Given the description of an element on the screen output the (x, y) to click on. 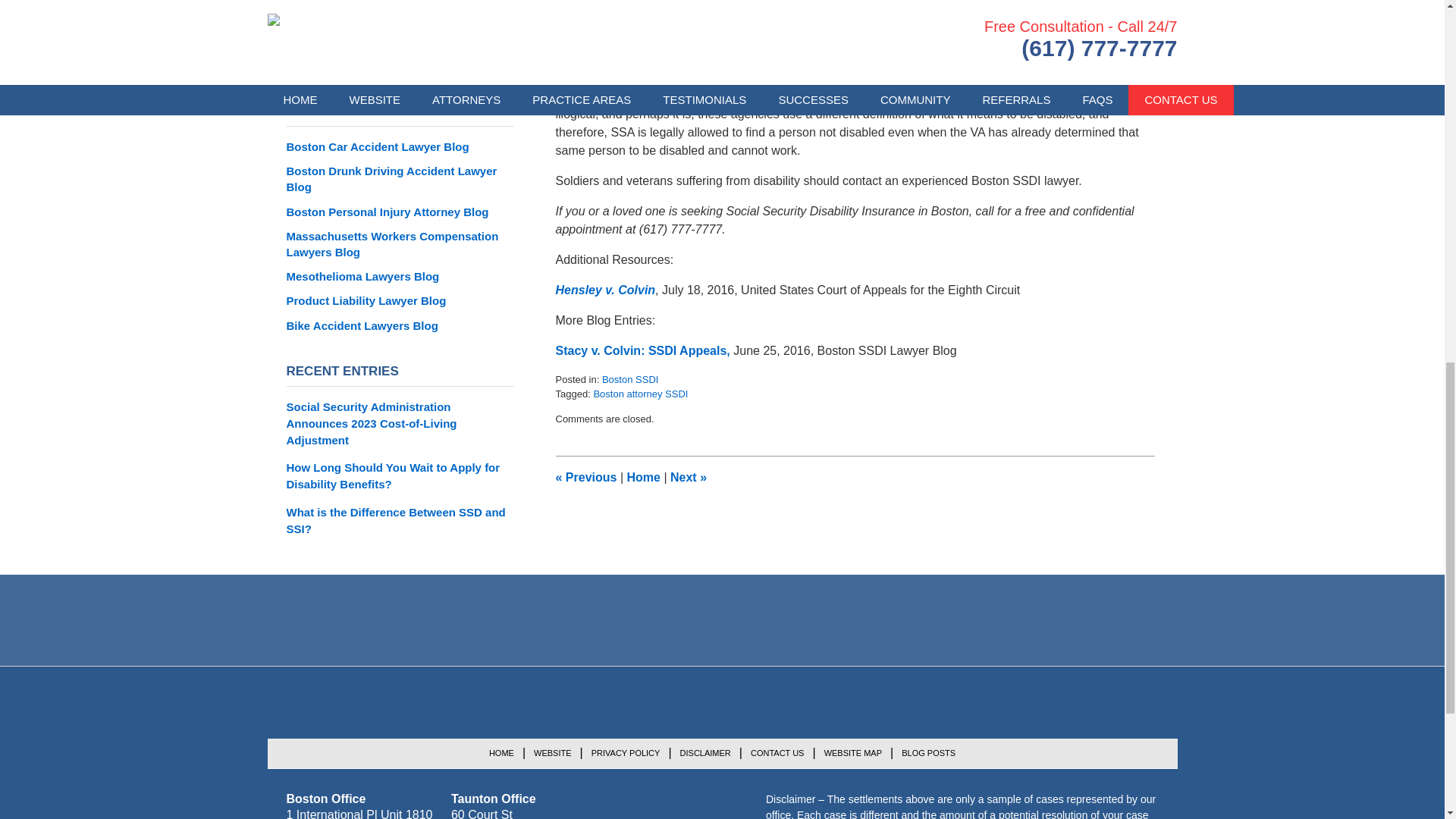
Boston attorney SSDI (639, 393)
Boston SSDI (630, 378)
Hensley v. Colvin (604, 289)
View all posts in Boston SSDI (630, 378)
SEARCH (499, 59)
Home (642, 477)
View all posts tagged with Boston attorney SSDI (639, 393)
A Look at the Review Period for Disability Benefits (687, 477)
Cole v. Colvin: SSDI Benefits (584, 477)
Stacy v. Colvin: SSDI Appeals, (641, 350)
